Given the description of an element on the screen output the (x, y) to click on. 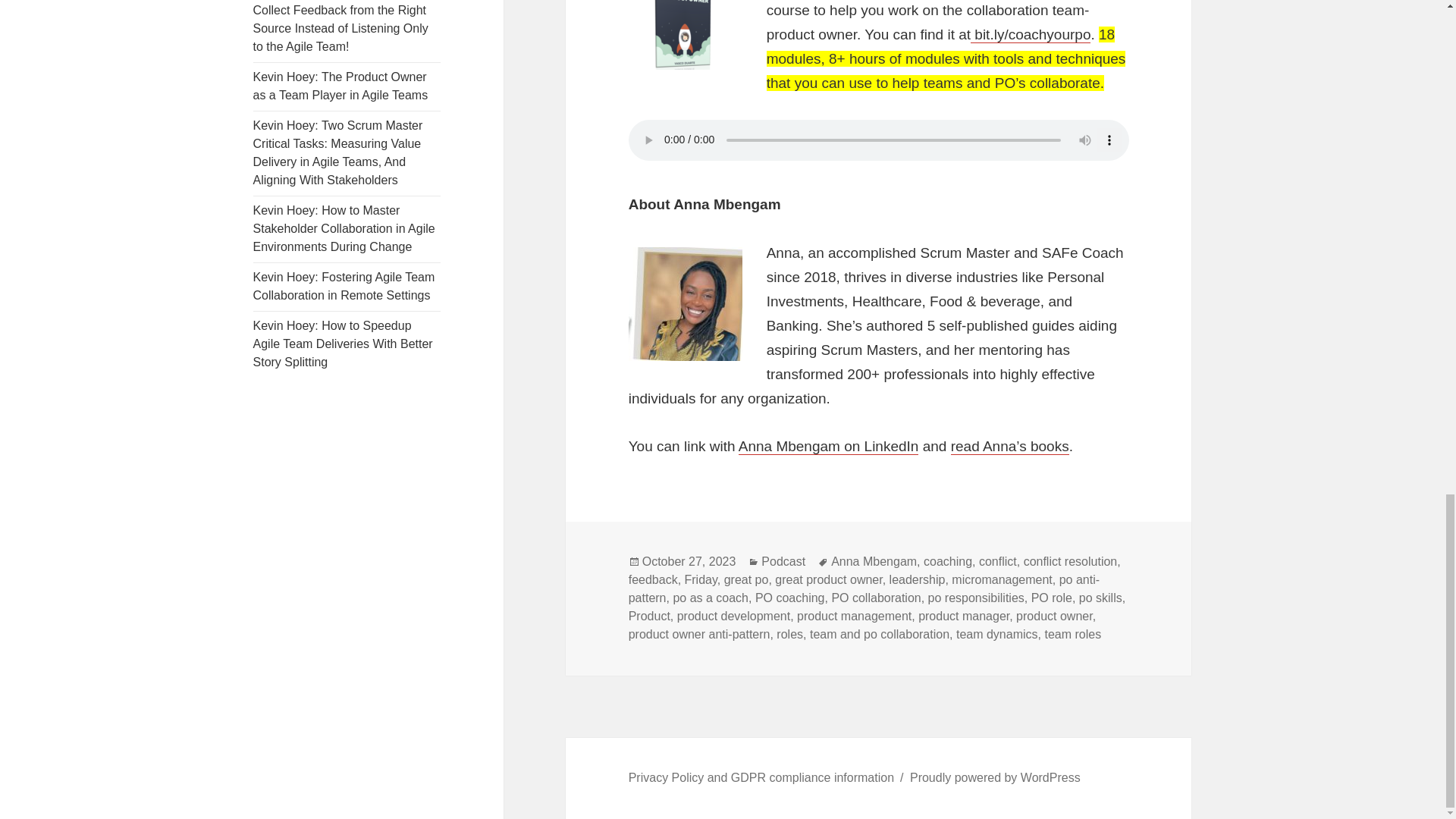
po as a coach (710, 598)
great product owner (828, 580)
conflict resolution (1070, 561)
conflict (997, 561)
great po (745, 580)
feedback (653, 580)
leadership (916, 580)
